Given the description of an element on the screen output the (x, y) to click on. 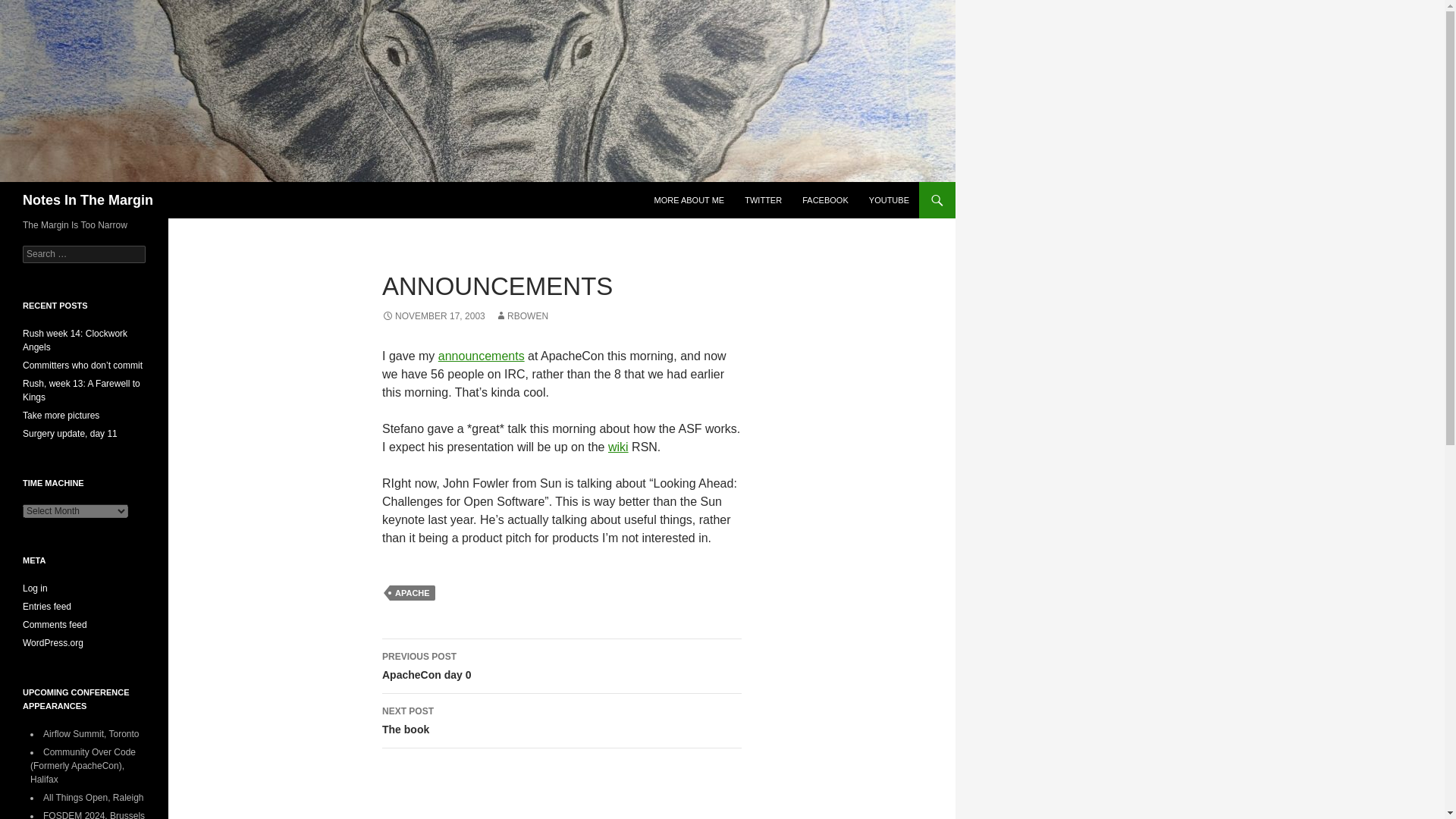
Log in (35, 588)
TWITTER (762, 199)
Search (30, 8)
NOVEMBER 17, 2003 (432, 316)
RBOWEN (521, 316)
Notes In The Margin (87, 199)
Entries feed (47, 606)
Take more pictures (561, 666)
announcements (61, 415)
